Given the description of an element on the screen output the (x, y) to click on. 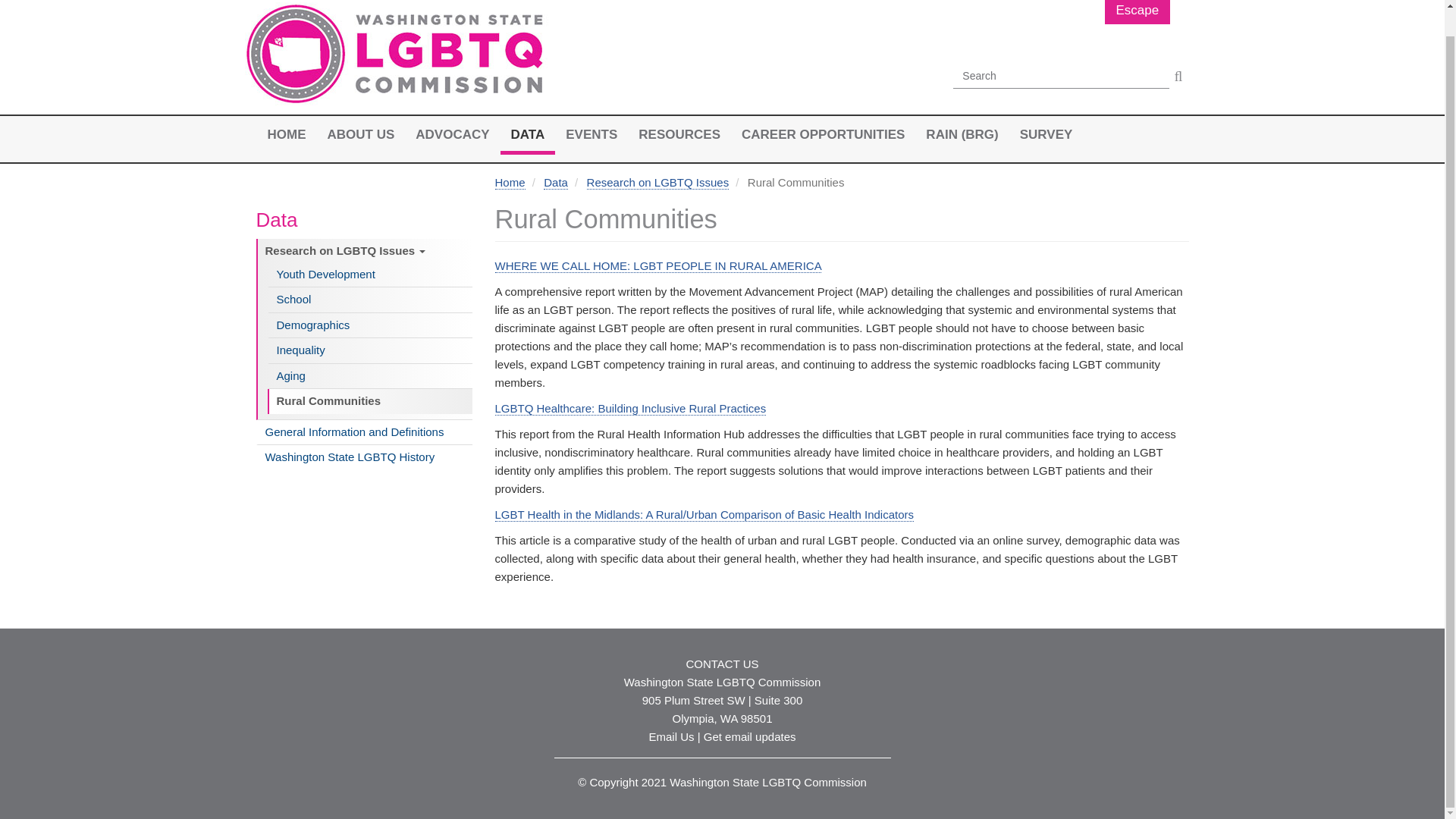
Escape (1136, 12)
ABOUT US (361, 135)
Home (395, 55)
HOME (285, 134)
DATA (528, 135)
ADVOCACY (451, 135)
